Given the description of an element on the screen output the (x, y) to click on. 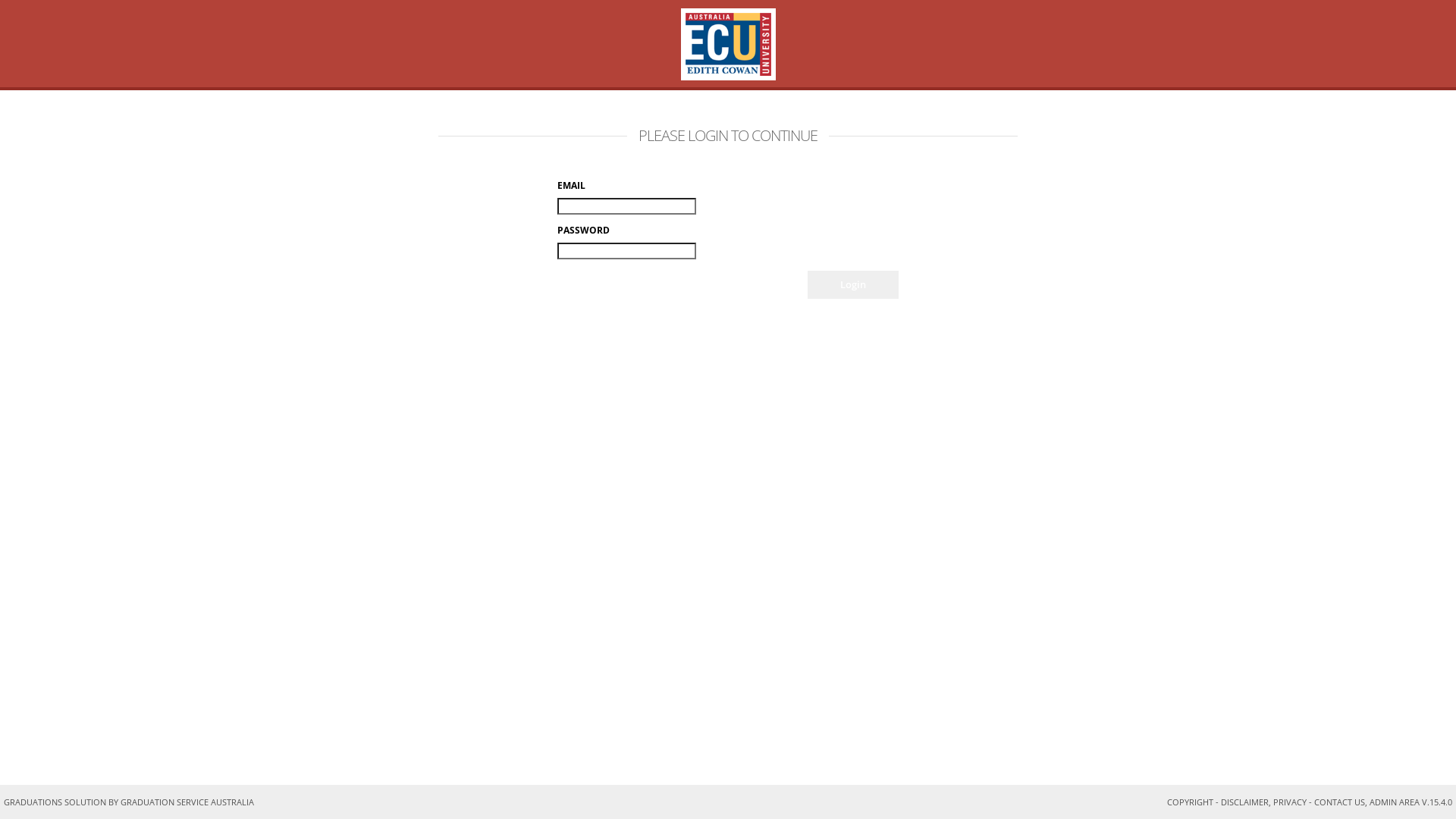
ADMIN AREA Element type: text (1394, 801)
Login Element type: text (852, 284)
